Given the description of an element on the screen output the (x, y) to click on. 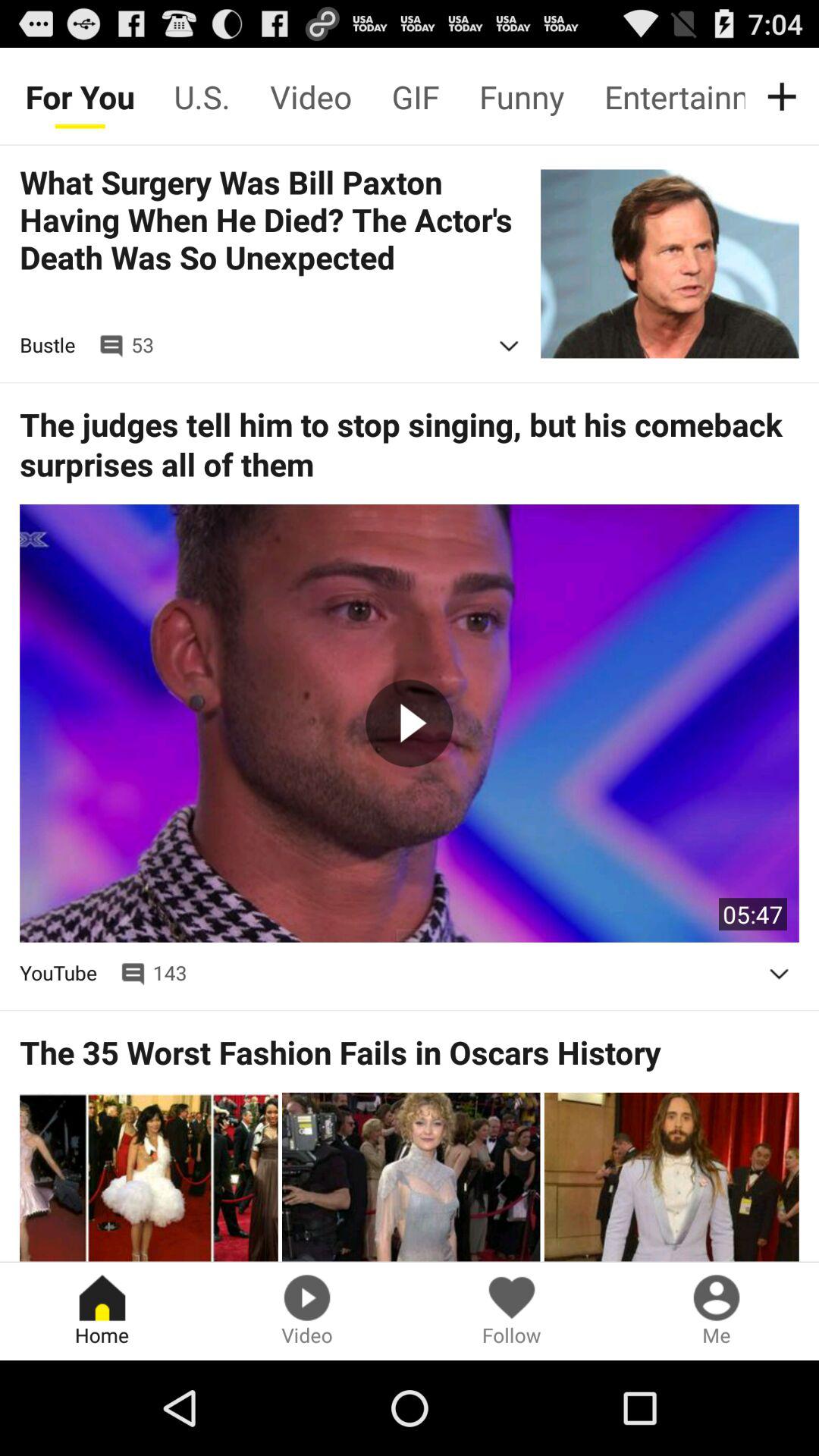
expand article (779, 974)
